Given the description of an element on the screen output the (x, y) to click on. 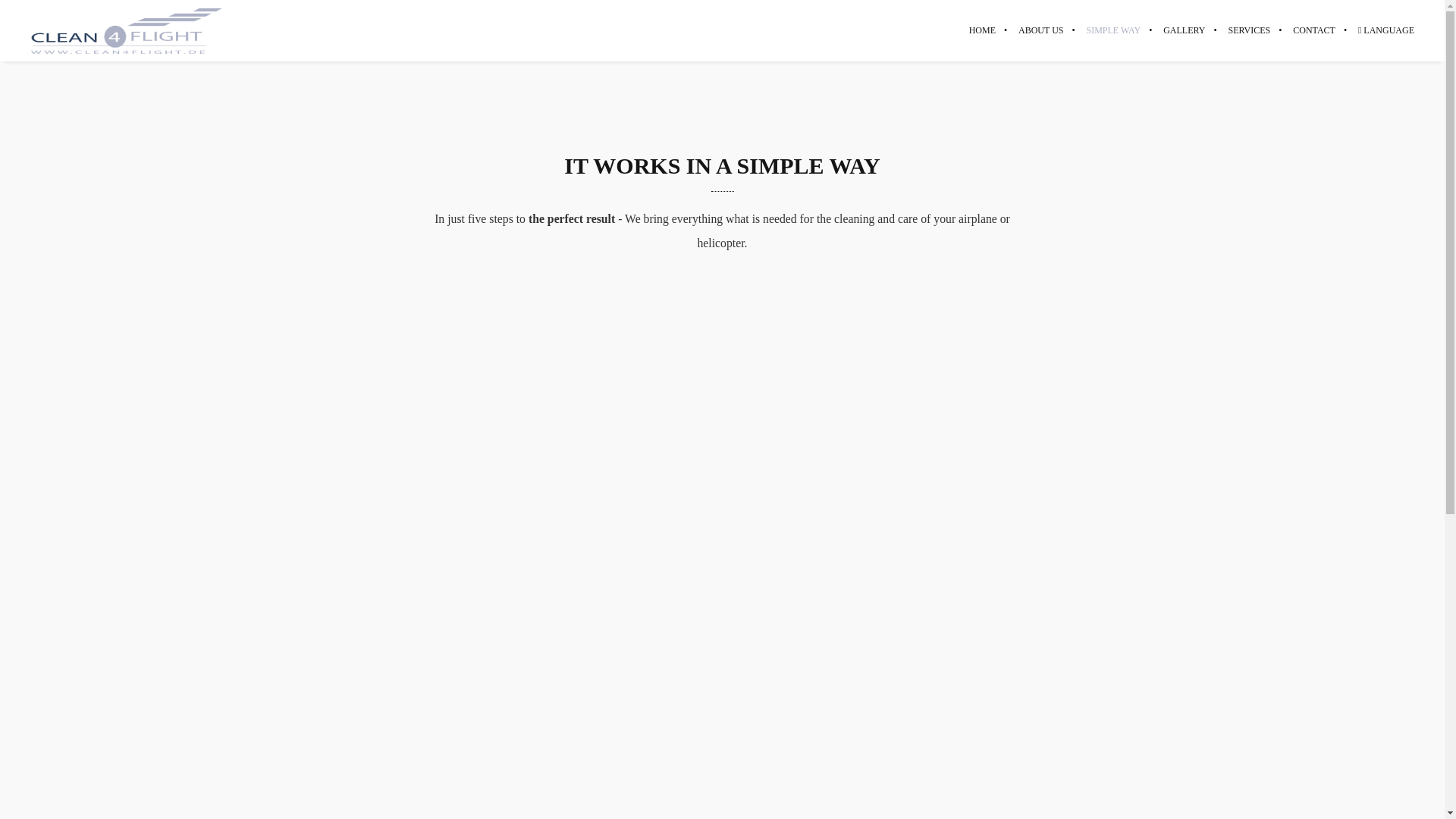
CONTACT (1313, 30)
ABOUT US (1040, 30)
SERVICES (1249, 30)
SIMPLE WAY (1112, 30)
GALLERY (1183, 30)
